Given the description of an element on the screen output the (x, y) to click on. 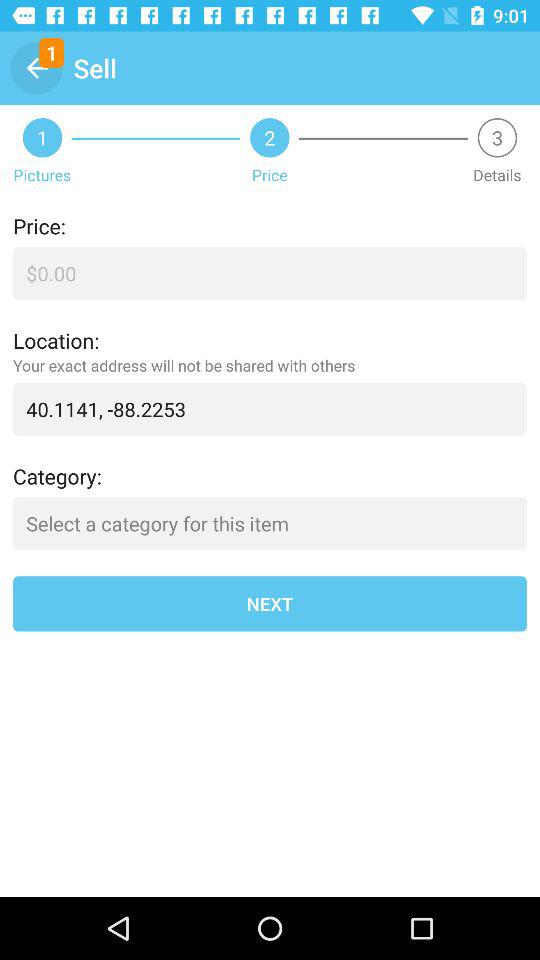
scroll until the select a category icon (269, 523)
